Given the description of an element on the screen output the (x, y) to click on. 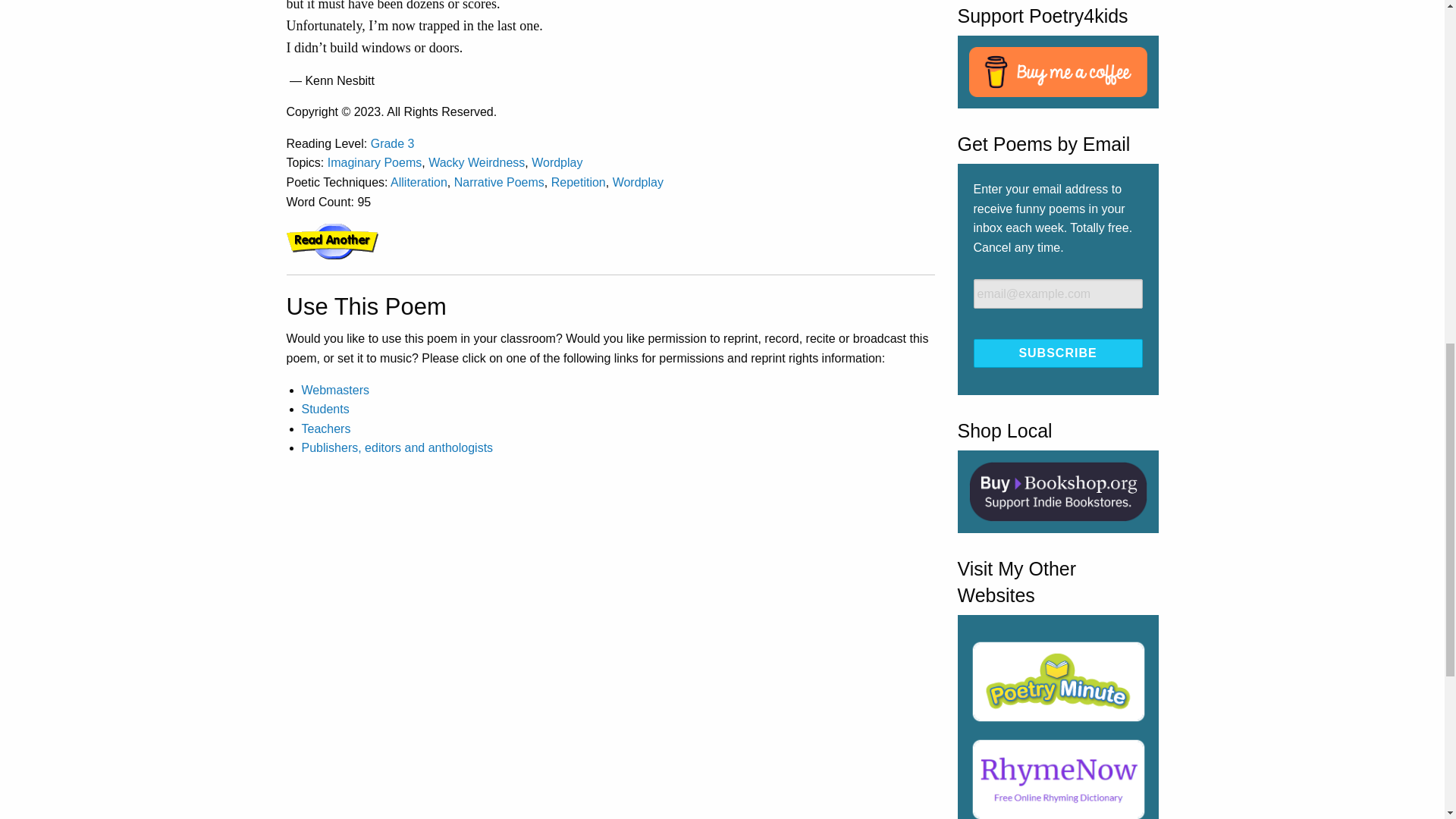
RhymeNow (1058, 777)
PoetryMinute (1058, 680)
Subscribe (1058, 353)
